Given the description of an element on the screen output the (x, y) to click on. 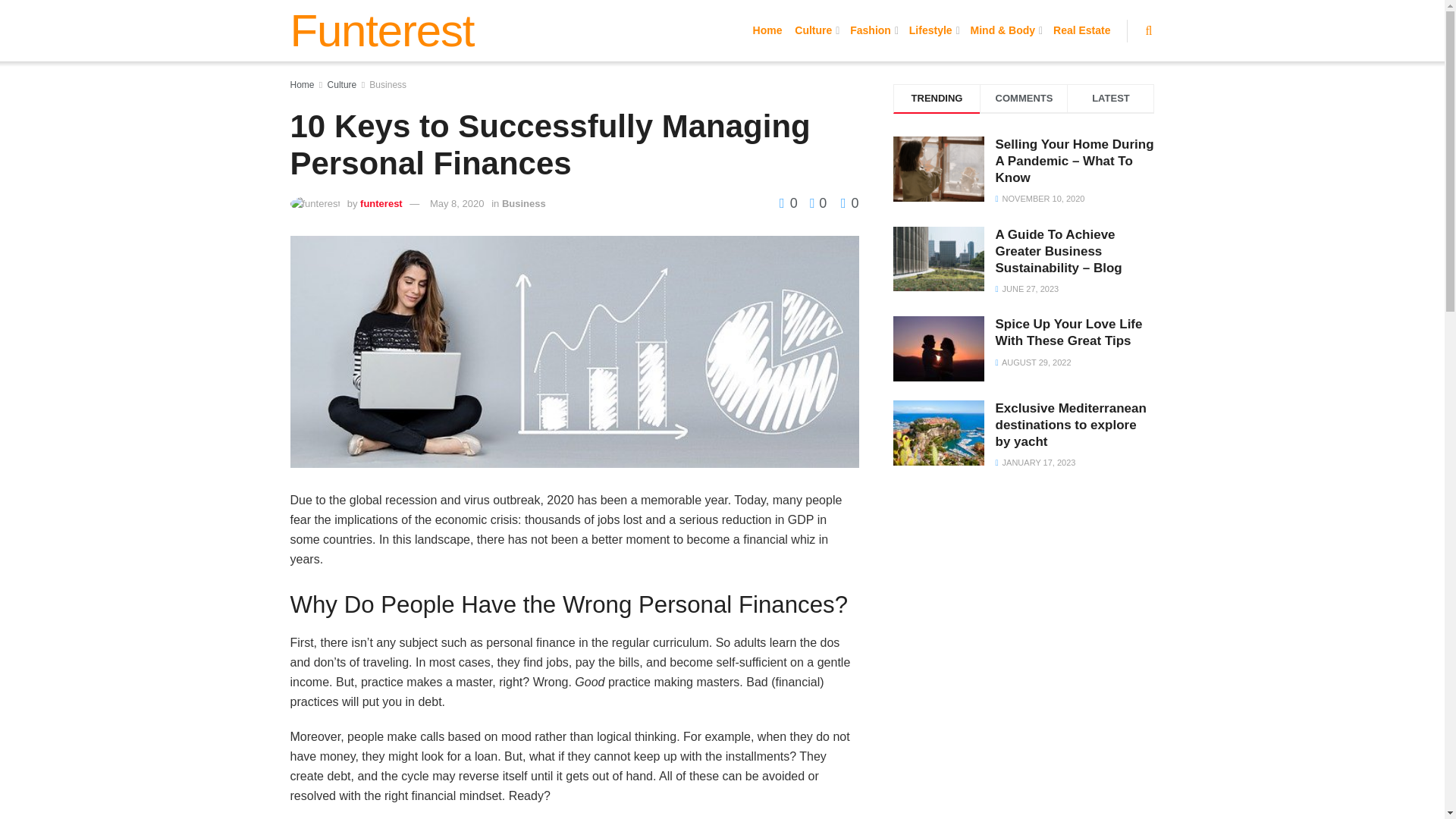
Fashion (873, 30)
Home (767, 30)
Funterest (381, 30)
Culture (815, 30)
Real Estate (1080, 30)
Lifestyle (933, 30)
